Given the description of an element on the screen output the (x, y) to click on. 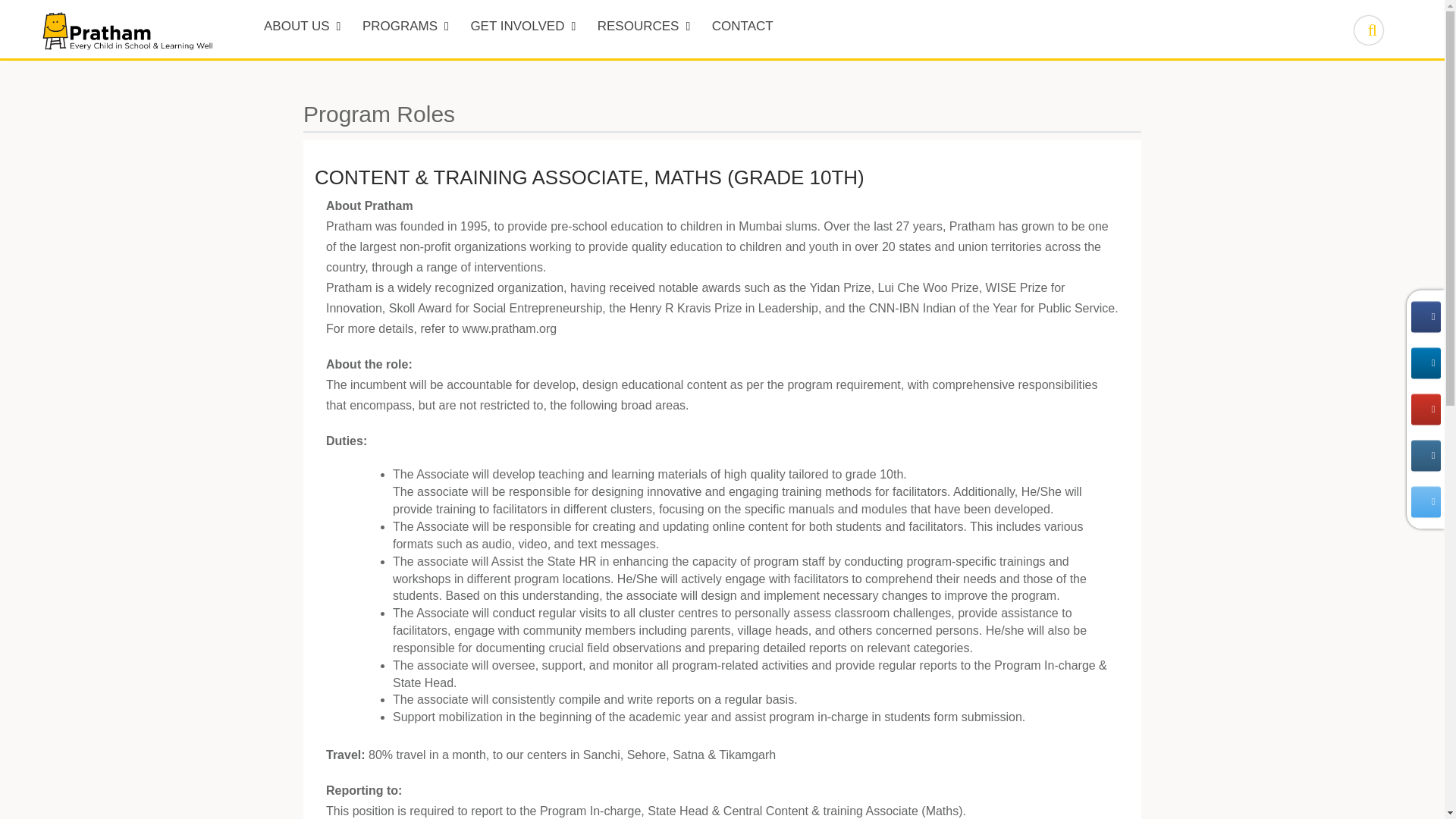
Pratham on Instagram (1424, 454)
Pratham on Facebook (1424, 317)
GET INVOLVED (523, 29)
Twitter (1424, 501)
CONTACT (743, 29)
Program Roles (378, 113)
PROGRAMS (405, 29)
RESOURCES (644, 29)
Pratham on Youtube (1424, 409)
ABOUT US (301, 29)
Pratham on Linkedin (1424, 362)
